Given the description of an element on the screen output the (x, y) to click on. 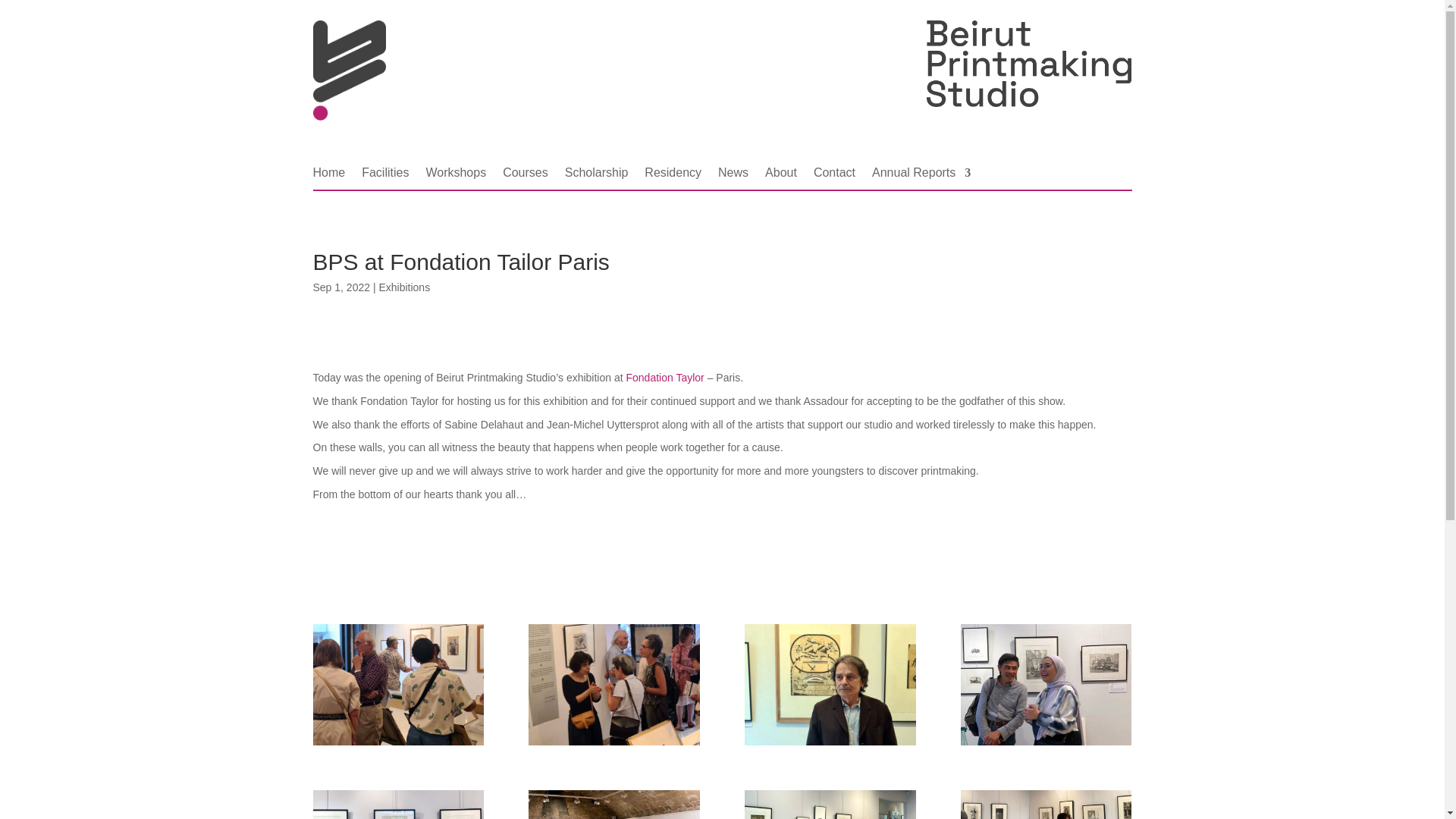
Exhibitions (403, 287)
Scholarship (596, 175)
Courses (525, 175)
Annual Reports (921, 175)
Beirut Printmaking Studio at Fondation Tailor Paris (613, 745)
Facilities (385, 175)
Beirut Printmaking Studio at Fondation Tailor Paris (398, 745)
Contact (834, 175)
About (780, 175)
Workshops (455, 175)
News (732, 175)
Beirut Printmaking Studio at Fondation Tailor Paris (829, 745)
Fondation Taylor (665, 377)
Beirut Printmaking Studio at Fondation Tailor Paris (1045, 745)
Residency (673, 175)
